Given the description of an element on the screen output the (x, y) to click on. 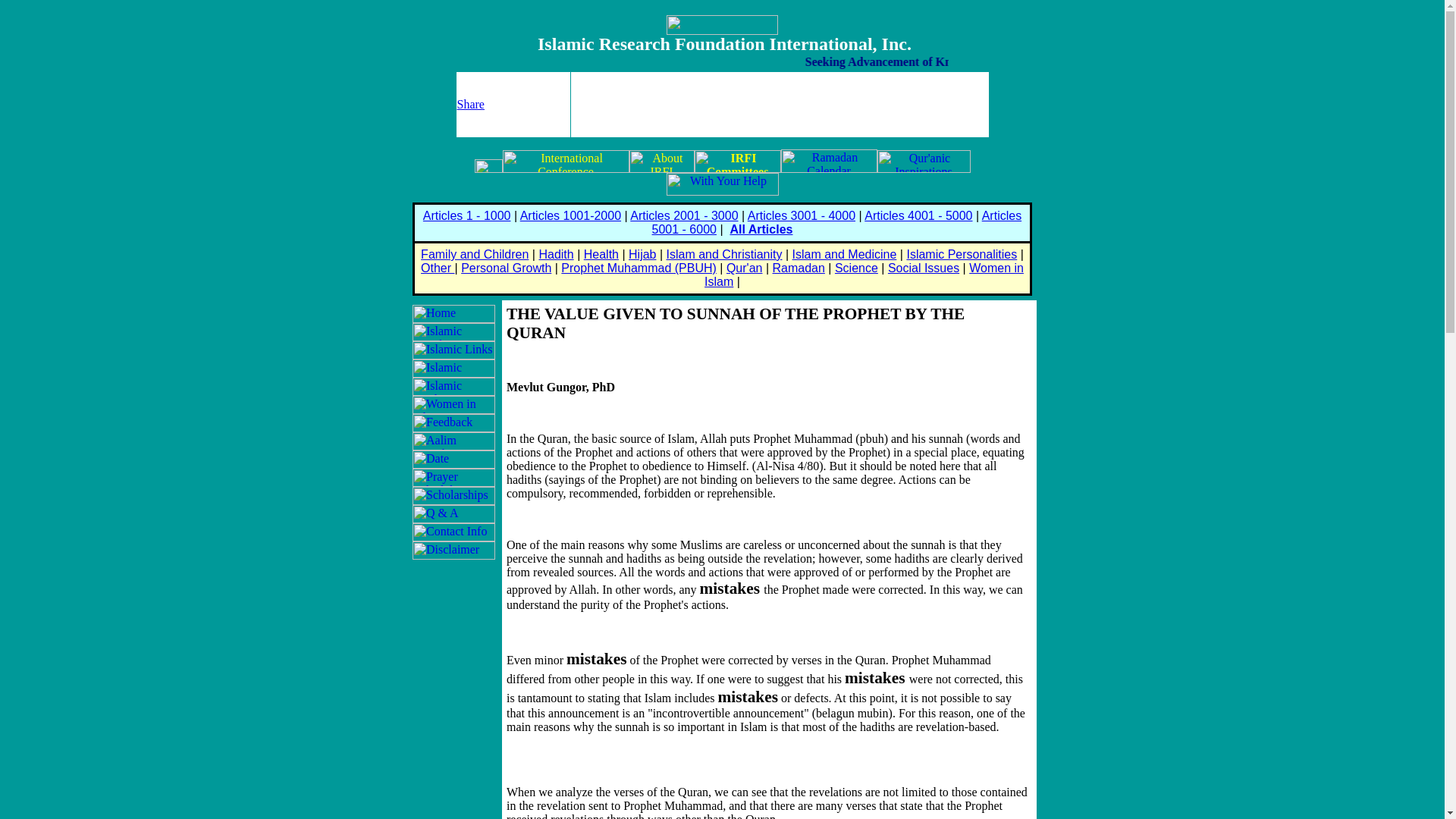
Other (437, 267)
Hadith (555, 254)
Articles 2001 - 3000 (684, 215)
Articles 1001-2000 (570, 215)
Islamic Personalities (960, 254)
Hijab (642, 254)
Personal Growth (506, 267)
Islam and Medicine (844, 254)
Women in Islam (863, 274)
Share (470, 103)
Ramadan (797, 267)
Science (855, 267)
Articles 1 - 1000 (467, 215)
Articles 4001 - 5000 (918, 215)
All Articles (760, 228)
